Given the description of an element on the screen output the (x, y) to click on. 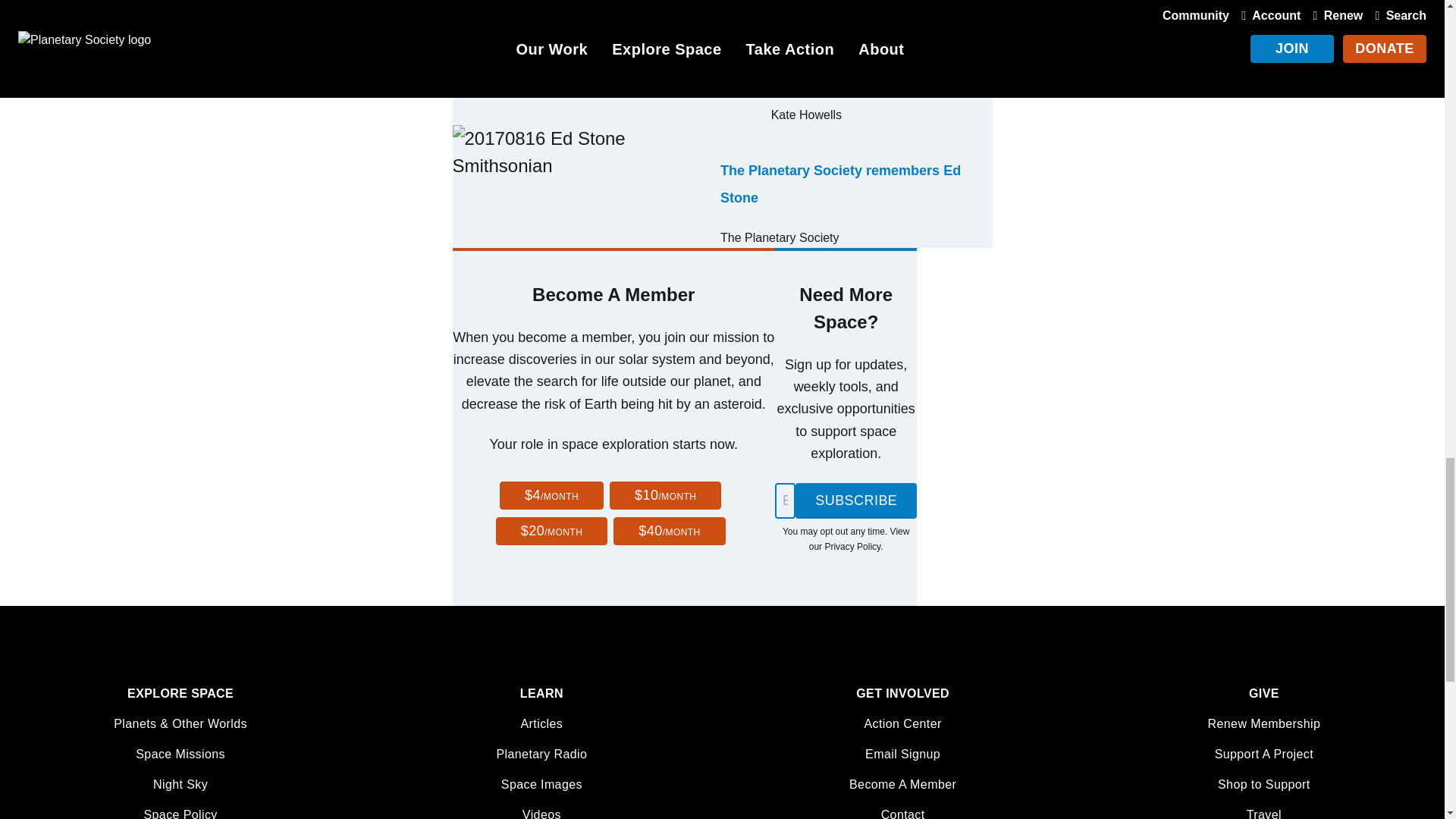
Subscribe (855, 500)
